Given the description of an element on the screen output the (x, y) to click on. 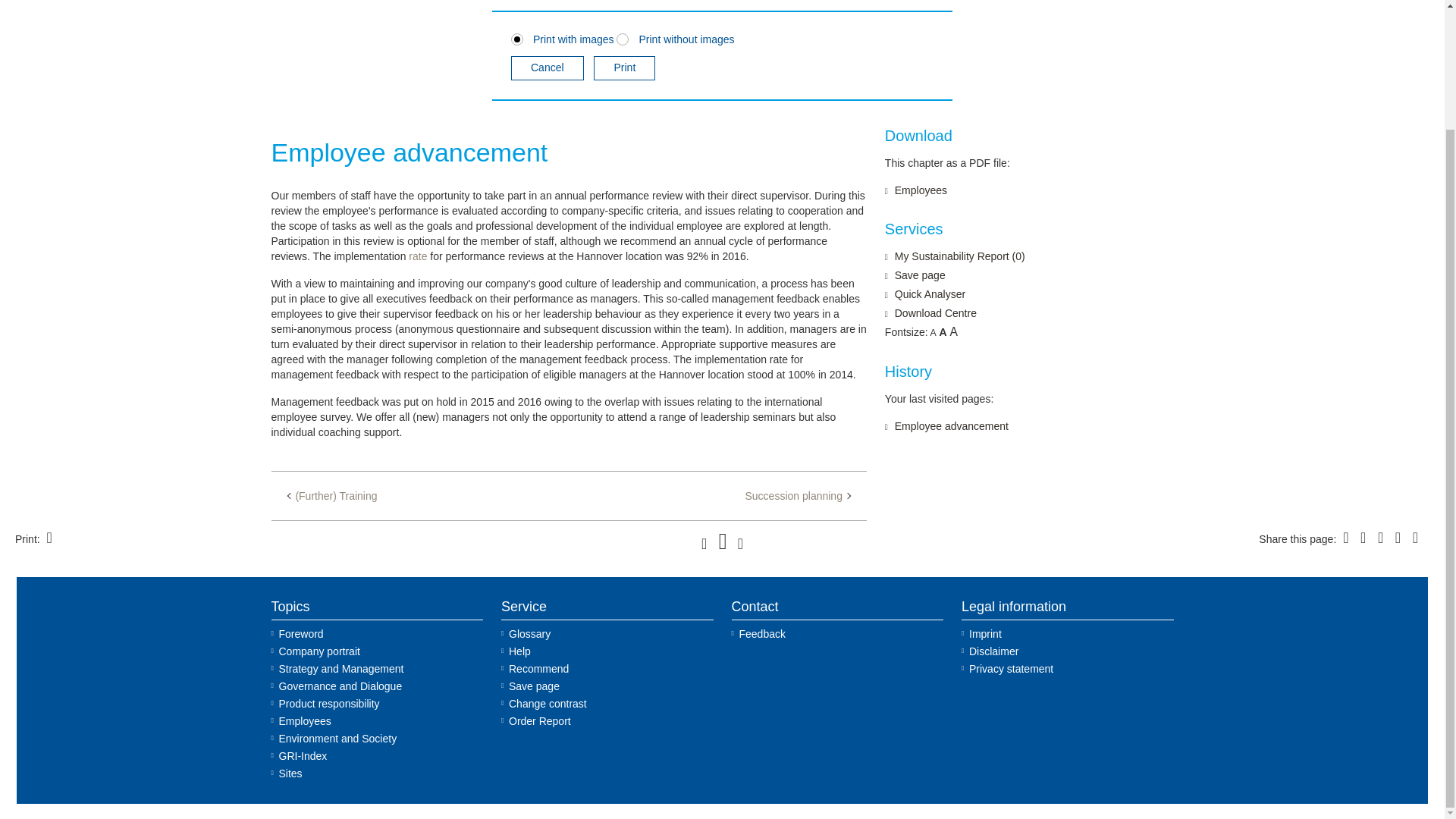
Cancel printing (547, 68)
Succession planning (796, 495)
Print (624, 68)
